Given the description of an element on the screen output the (x, y) to click on. 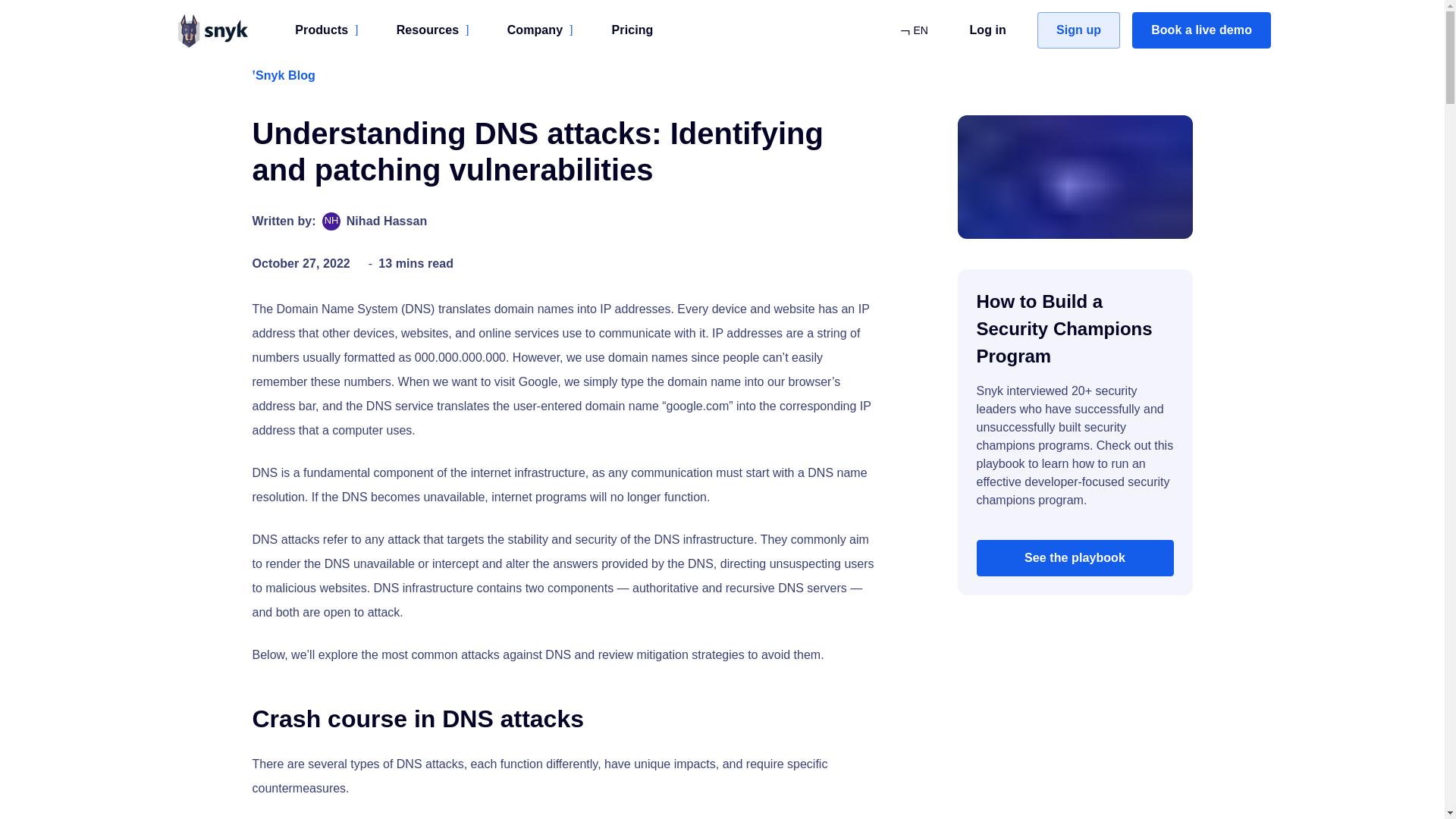
Pricing (632, 29)
Book a live demo (1201, 30)
Sign up (1077, 30)
Book a live demo (1201, 30)
Sign up (1077, 30)
Log in (987, 30)
Log in (987, 30)
Select your language (913, 30)
